Given the description of an element on the screen output the (x, y) to click on. 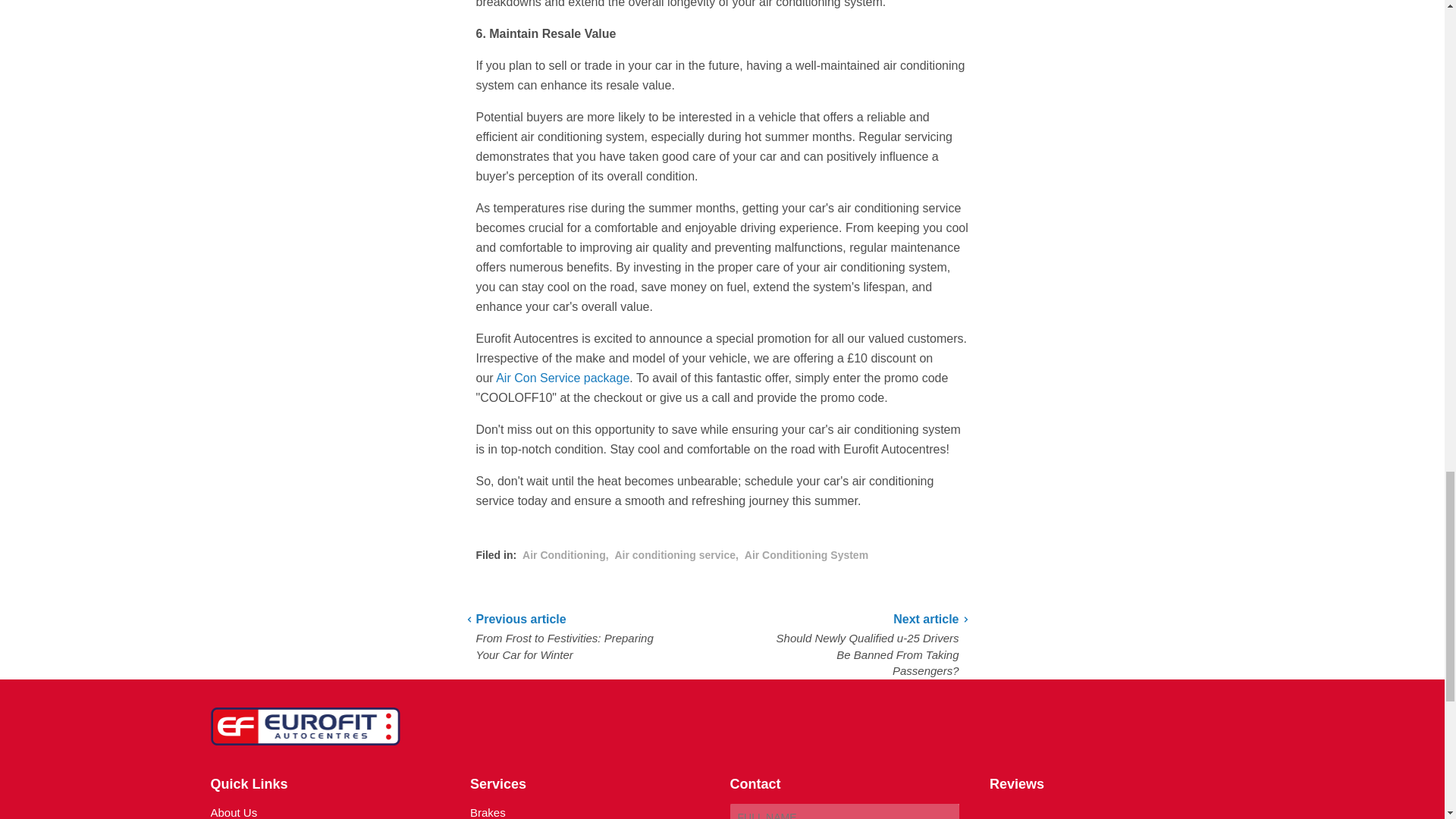
Air Conditioning (563, 554)
Air conditioning service (674, 554)
VEHICLE CAR AIR CON SERVICE RE GAS RECHARGE (562, 377)
Show articles tagged Air Conditioning (563, 554)
Show articles tagged Air Conditioning System (805, 554)
Show articles tagged Air conditioning service (674, 554)
Air Conditioning System (805, 554)
Air Con Service package (562, 377)
